Given the description of an element on the screen output the (x, y) to click on. 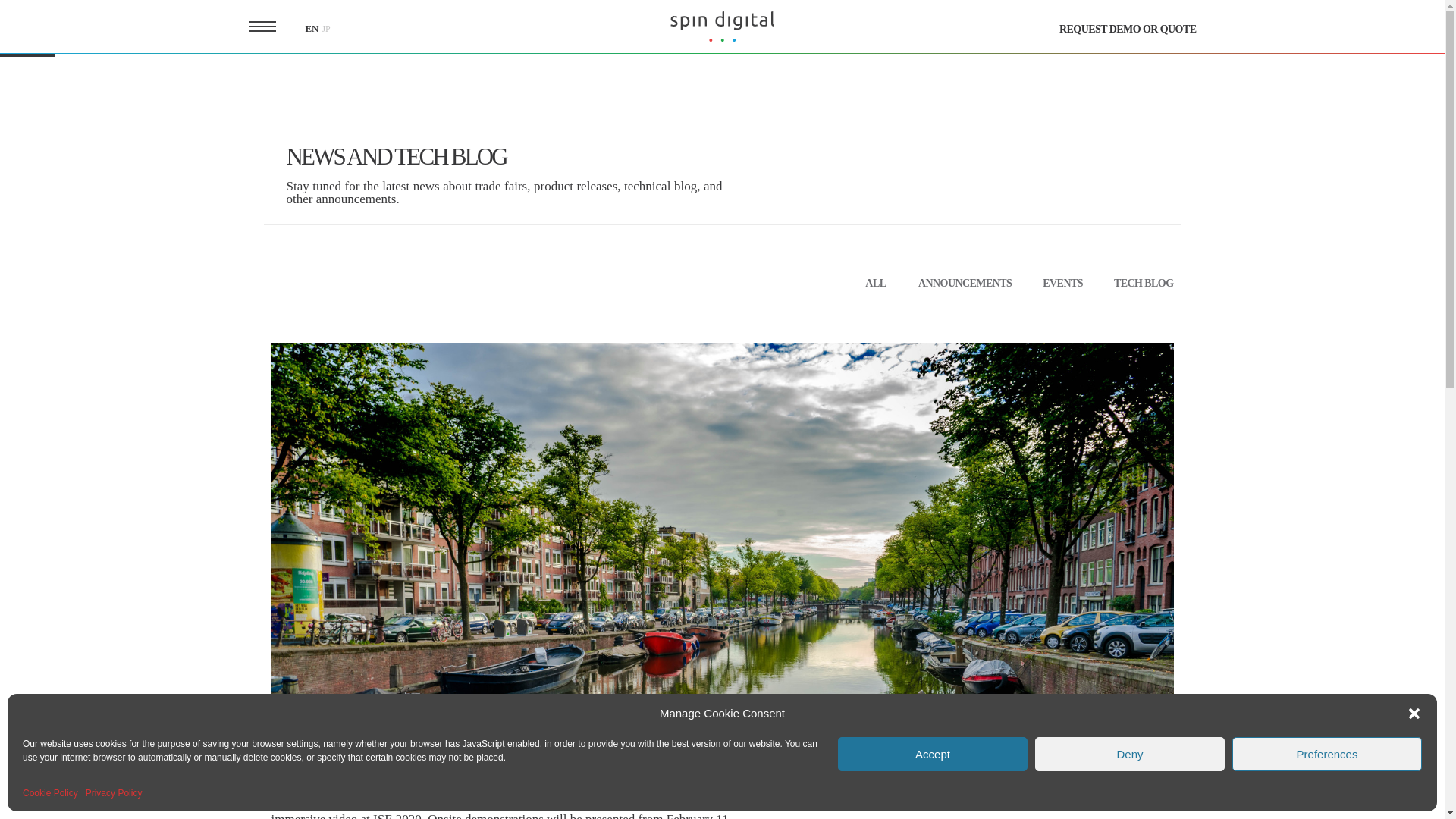
Preferences (1326, 754)
EN (311, 28)
Cookie Policy (50, 793)
Privacy Policy (113, 793)
Deny (1129, 754)
REQUEST DEMO OR QUOTE (1127, 29)
Accept (932, 754)
